Given the description of an element on the screen output the (x, y) to click on. 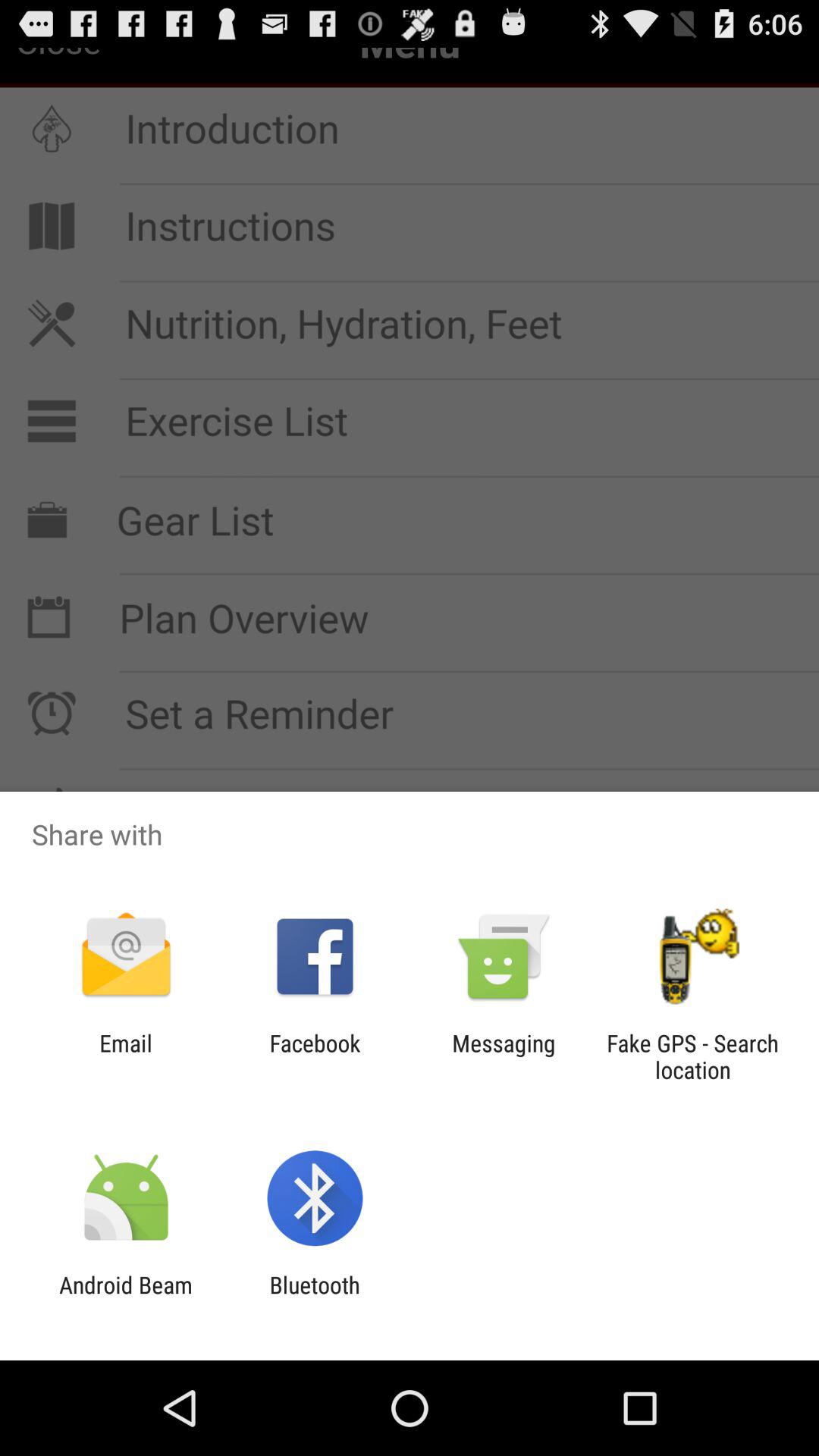
flip to email (125, 1056)
